Given the description of an element on the screen output the (x, y) to click on. 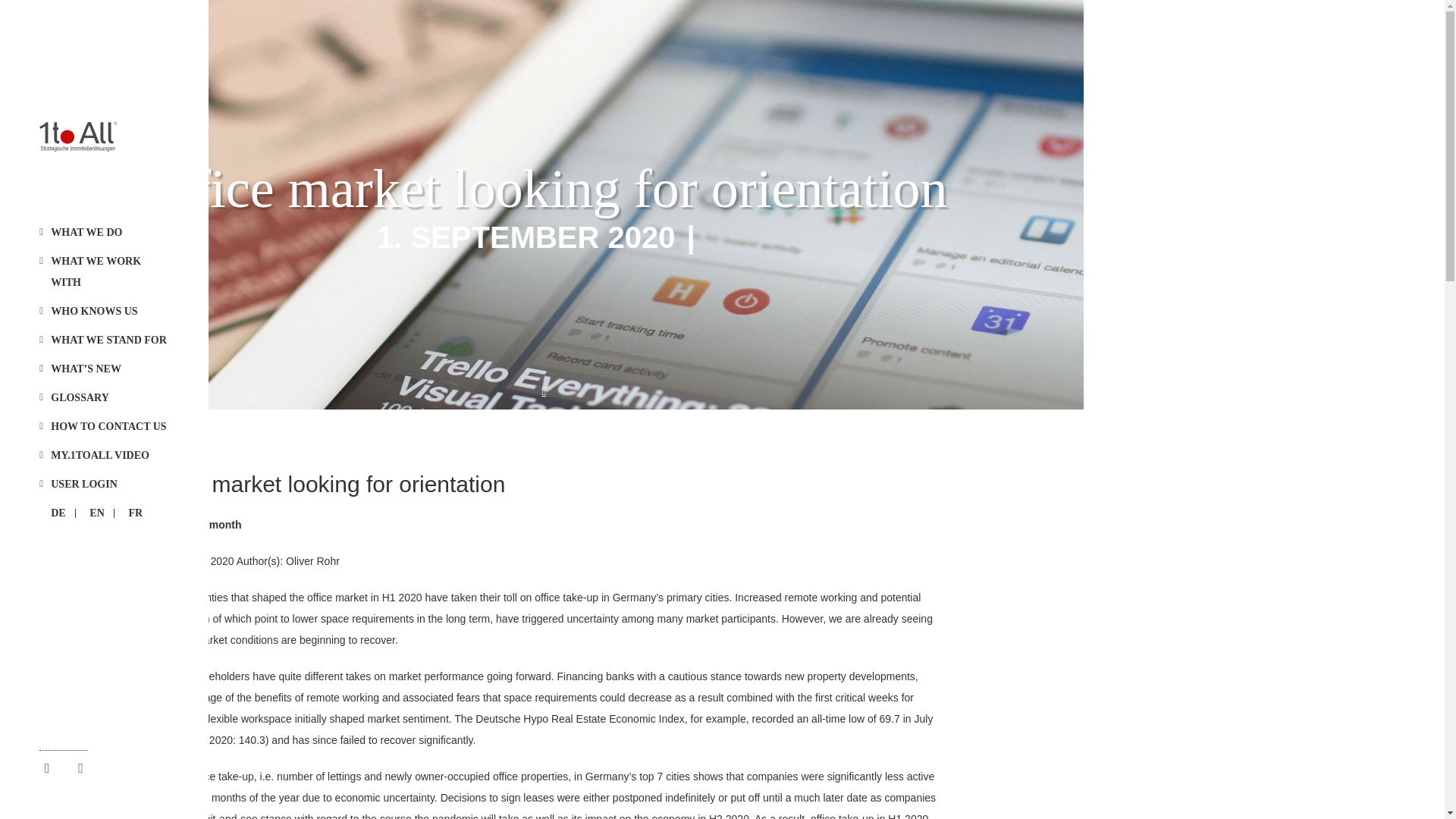
WHO KNOWS US (109, 311)
WHAT WE WORK WITH (109, 271)
USER LOGIN (109, 484)
HOW TO CONTACT US (109, 426)
DE (57, 512)
GLOSSARY (109, 397)
WHAT WE STAND FOR (109, 340)
MY.1TOALL VIDEO (109, 455)
WHAT WE DO (109, 232)
FR (135, 512)
EN (95, 512)
